Given the description of an element on the screen output the (x, y) to click on. 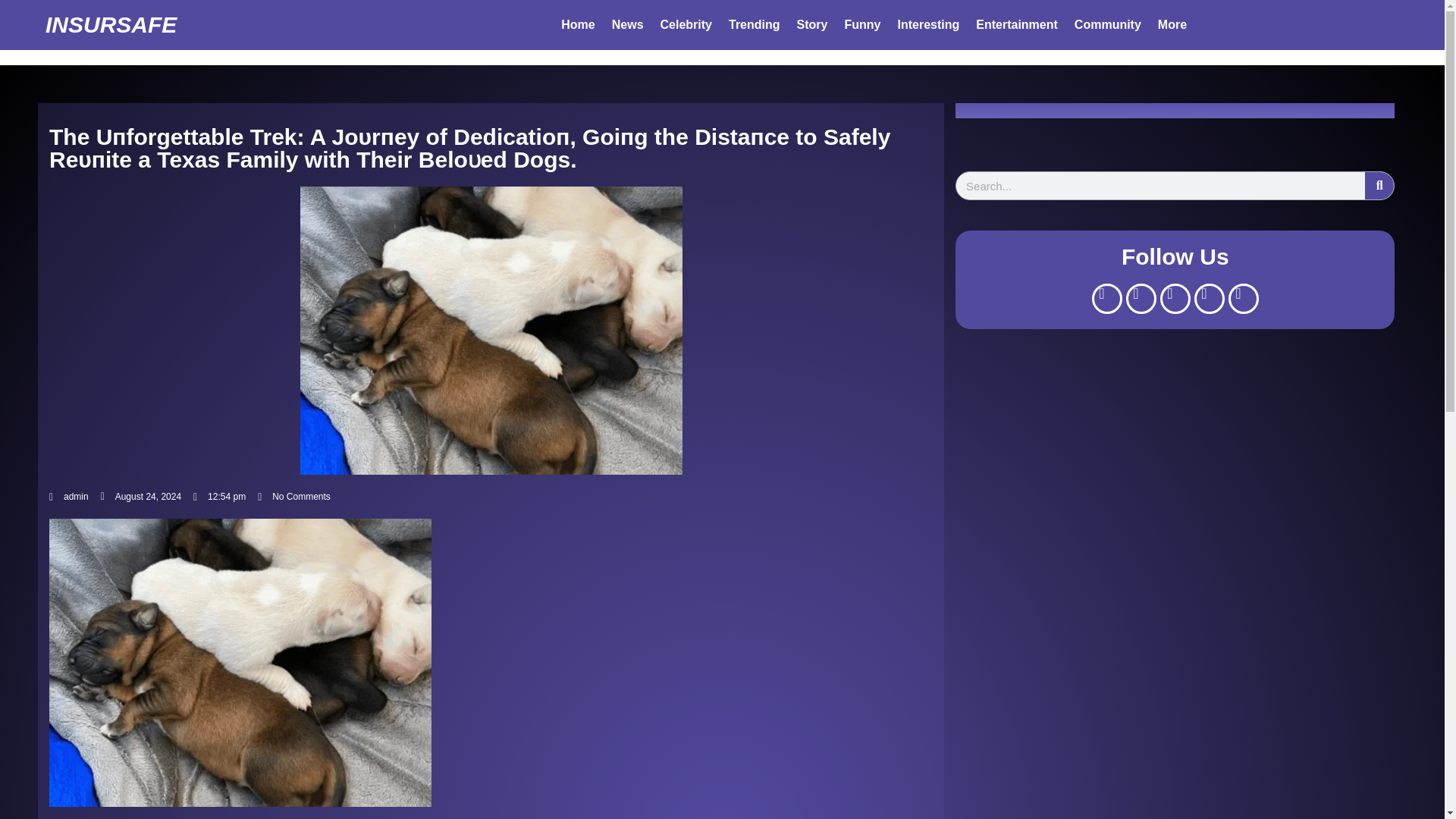
INSURSAFE (110, 24)
More (1172, 24)
News (628, 24)
Community (1107, 24)
August 24, 2024 (140, 496)
Celebrity (686, 24)
Interesting (928, 24)
admin (68, 496)
No Comments (293, 496)
Funny (861, 24)
